Given the description of an element on the screen output the (x, y) to click on. 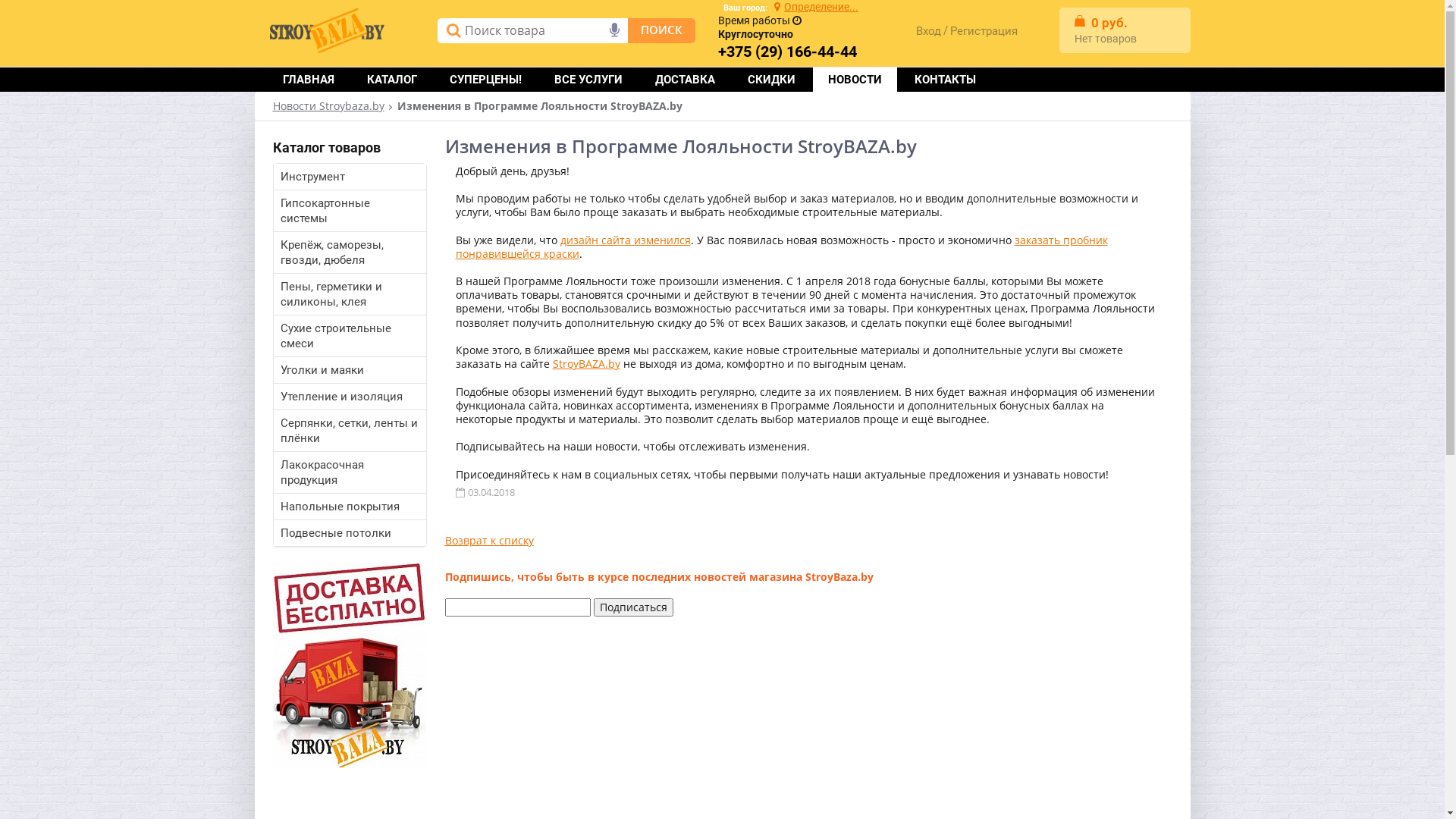
+375 (29) 166-44-44 Element type: text (787, 51)
+375 (29) 166-44-44 Element type: text (787, 51)
StroyBAZA.by Element type: text (585, 363)
